Given the description of an element on the screen output the (x, y) to click on. 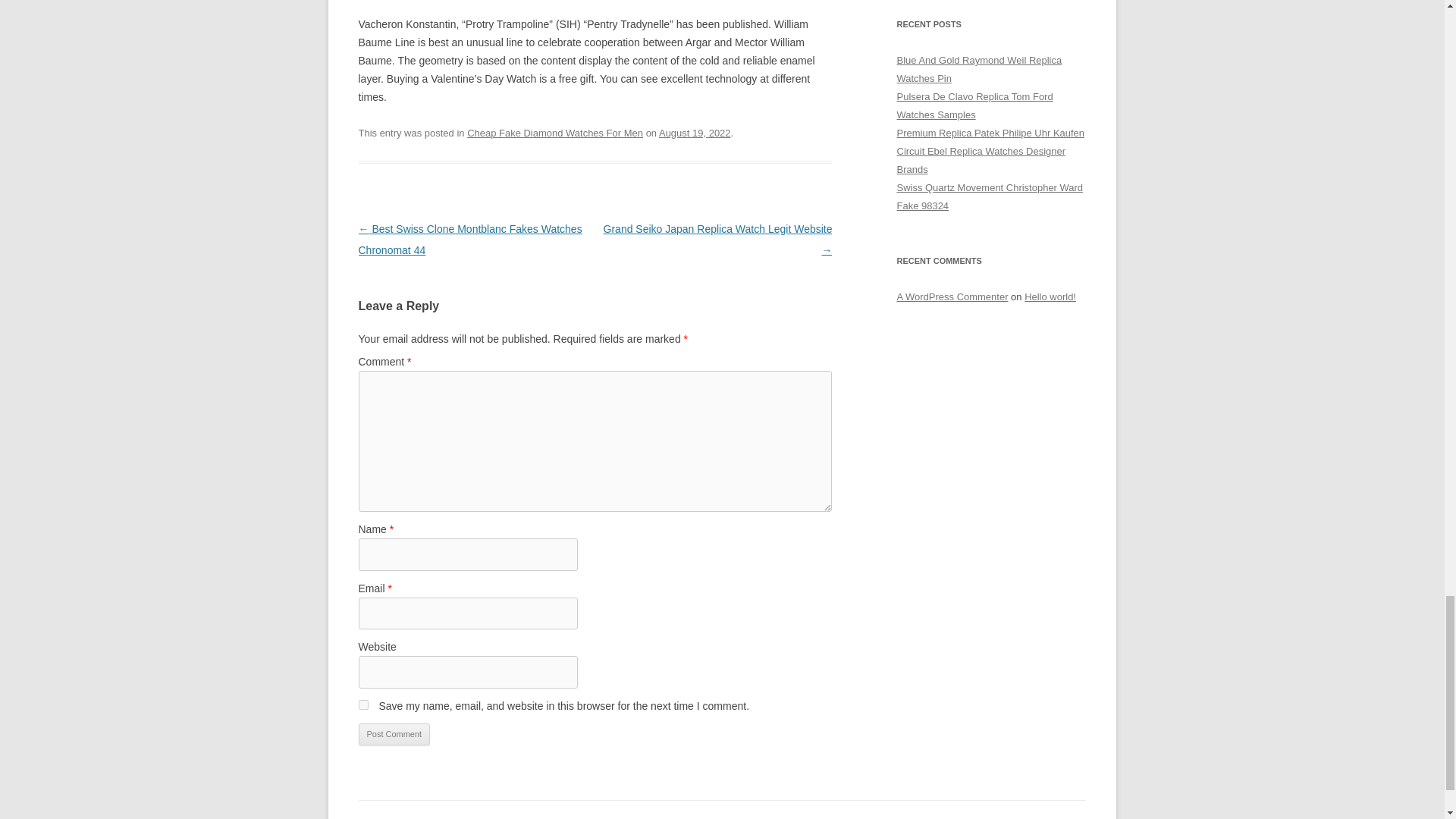
Post Comment (393, 734)
August 19, 2022 (694, 132)
Post Comment (393, 734)
Cheap Fake Diamond Watches For Men (555, 132)
10:47 am (694, 132)
yes (363, 705)
